Given the description of an element on the screen output the (x, y) to click on. 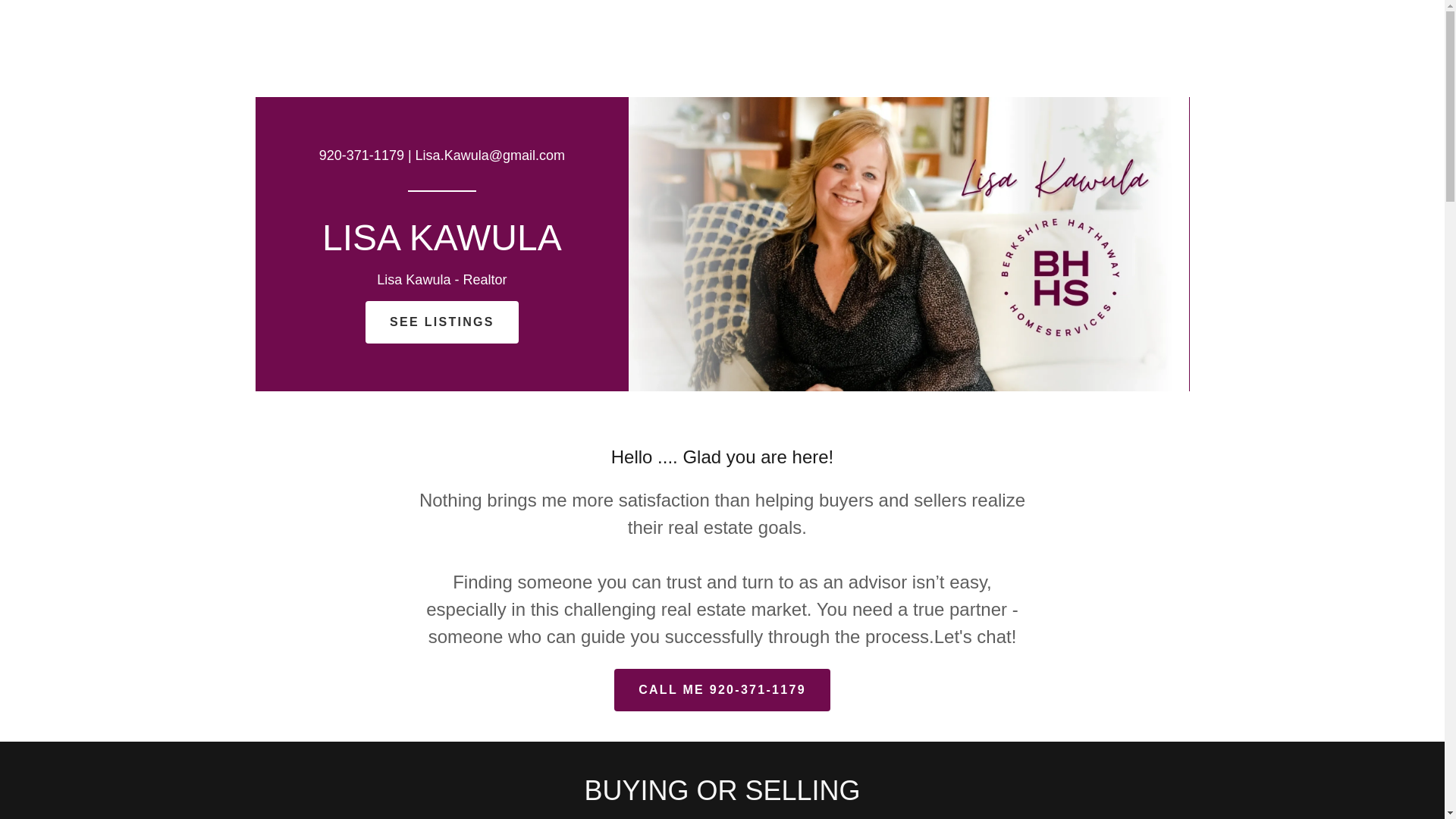
CALL ME 920-371-1179 (721, 690)
LISA KAWULA (441, 245)
920-371-1179 (361, 155)
SEE LISTINGS (441, 322)
LISA KAWULA (441, 245)
